Given the description of an element on the screen output the (x, y) to click on. 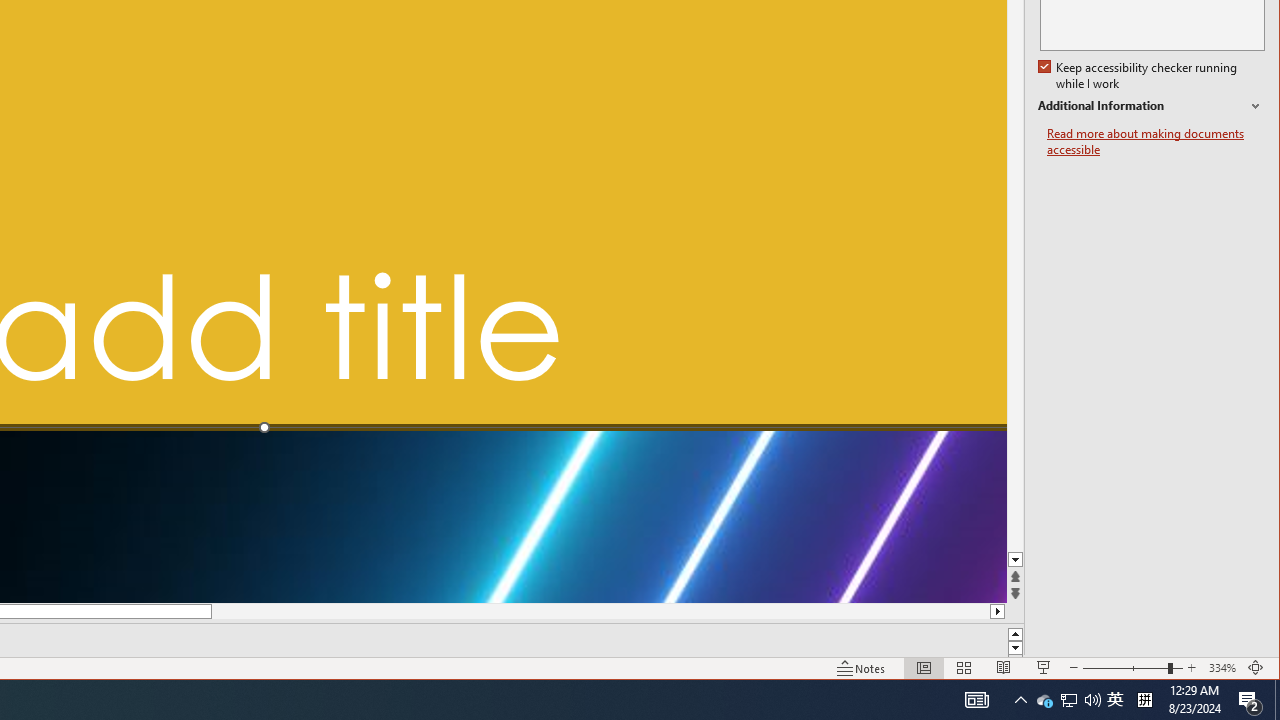
Zoom 334% (1222, 668)
